Given the description of an element on the screen output the (x, y) to click on. 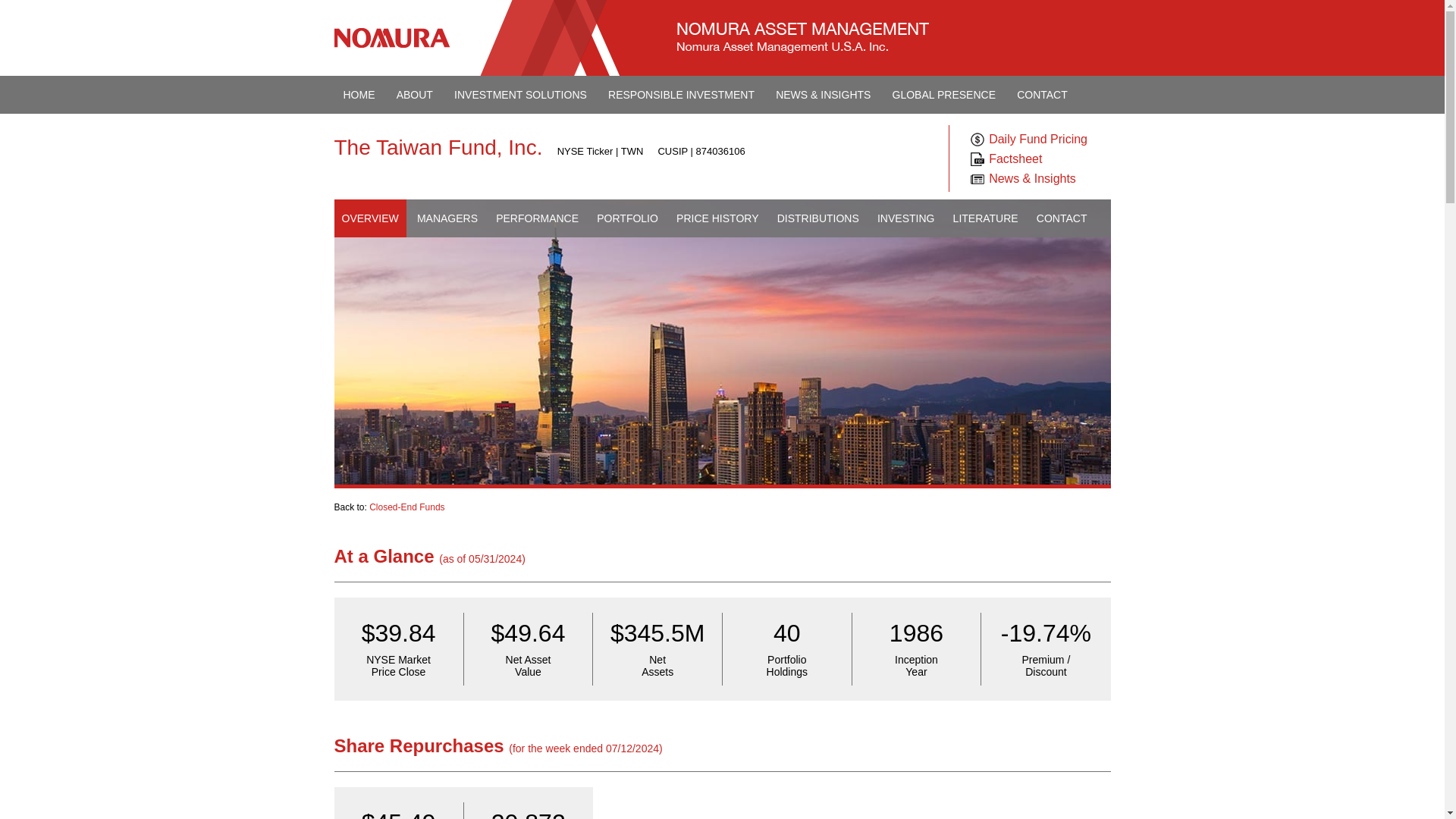
HOME (358, 94)
RESPONSIBLE INVESTMENT (680, 94)
ABOUT (414, 94)
INVESTMENT SOLUTIONS (520, 94)
GLOBAL PRESENCE (943, 94)
CONTACT (1042, 94)
